Given the description of an element on the screen output the (x, y) to click on. 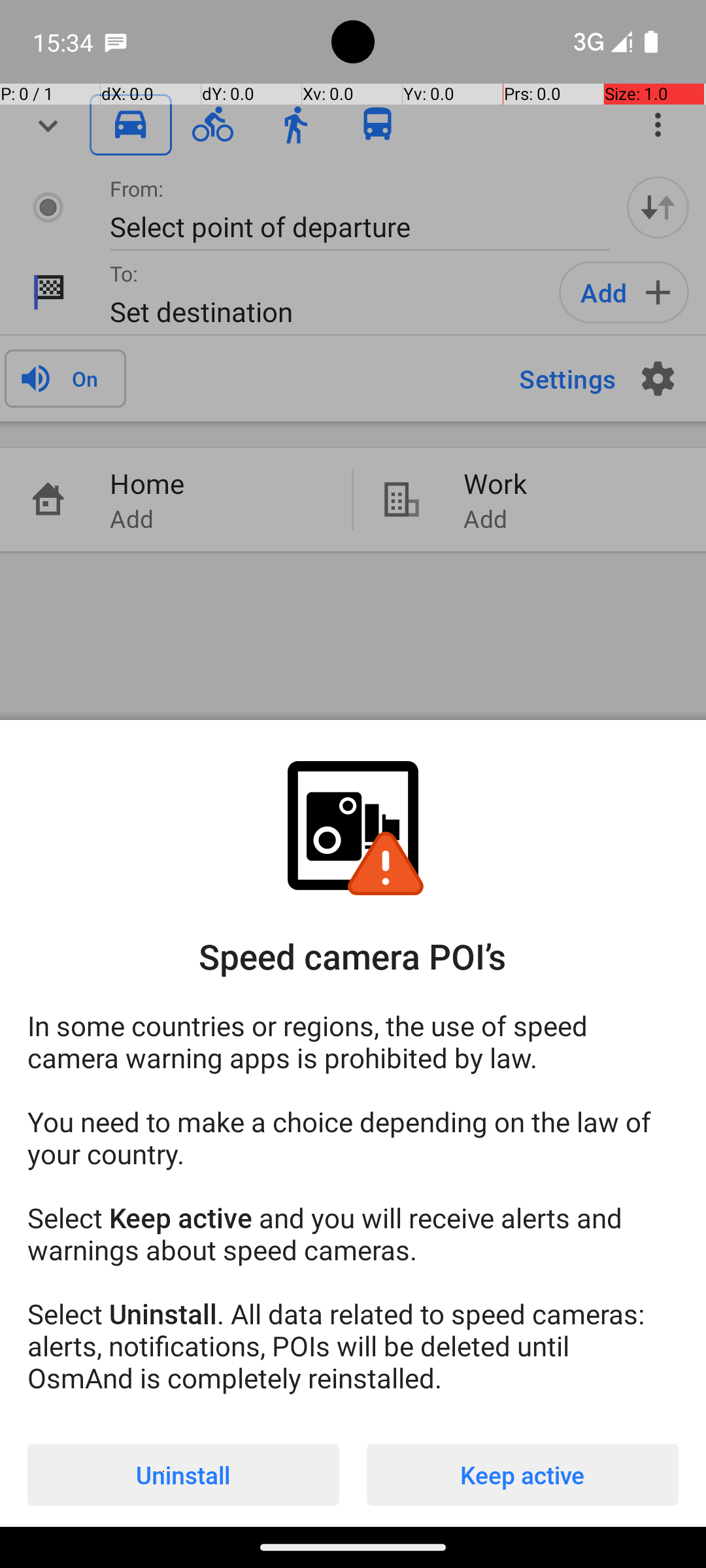
Close the dialog Element type: android.view.View (353, 388)
